Given the description of an element on the screen output the (x, y) to click on. 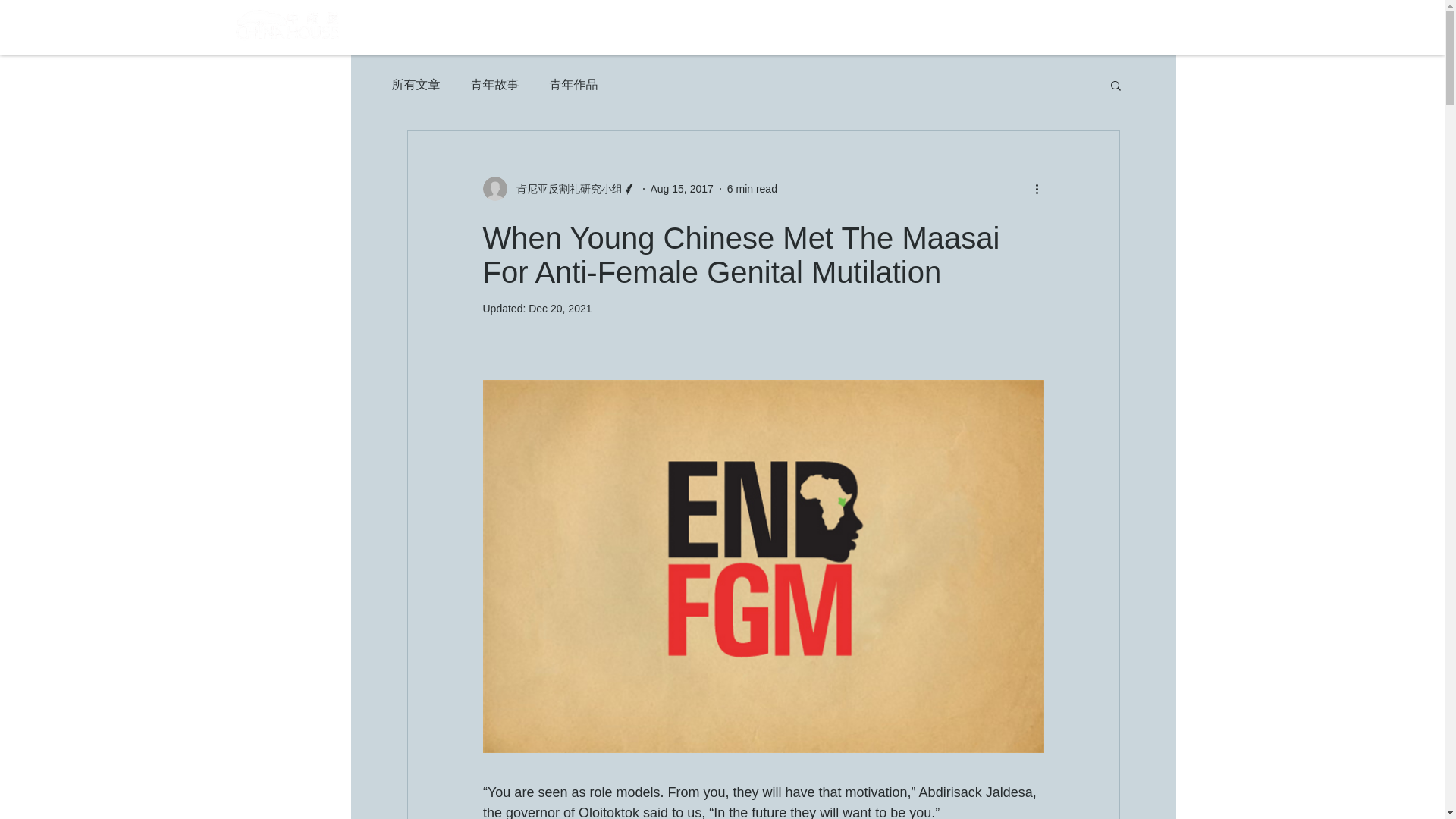
Aug 15, 2017 (681, 187)
6 min read (751, 187)
Dec 20, 2021 (559, 308)
